Given the description of an element on the screen output the (x, y) to click on. 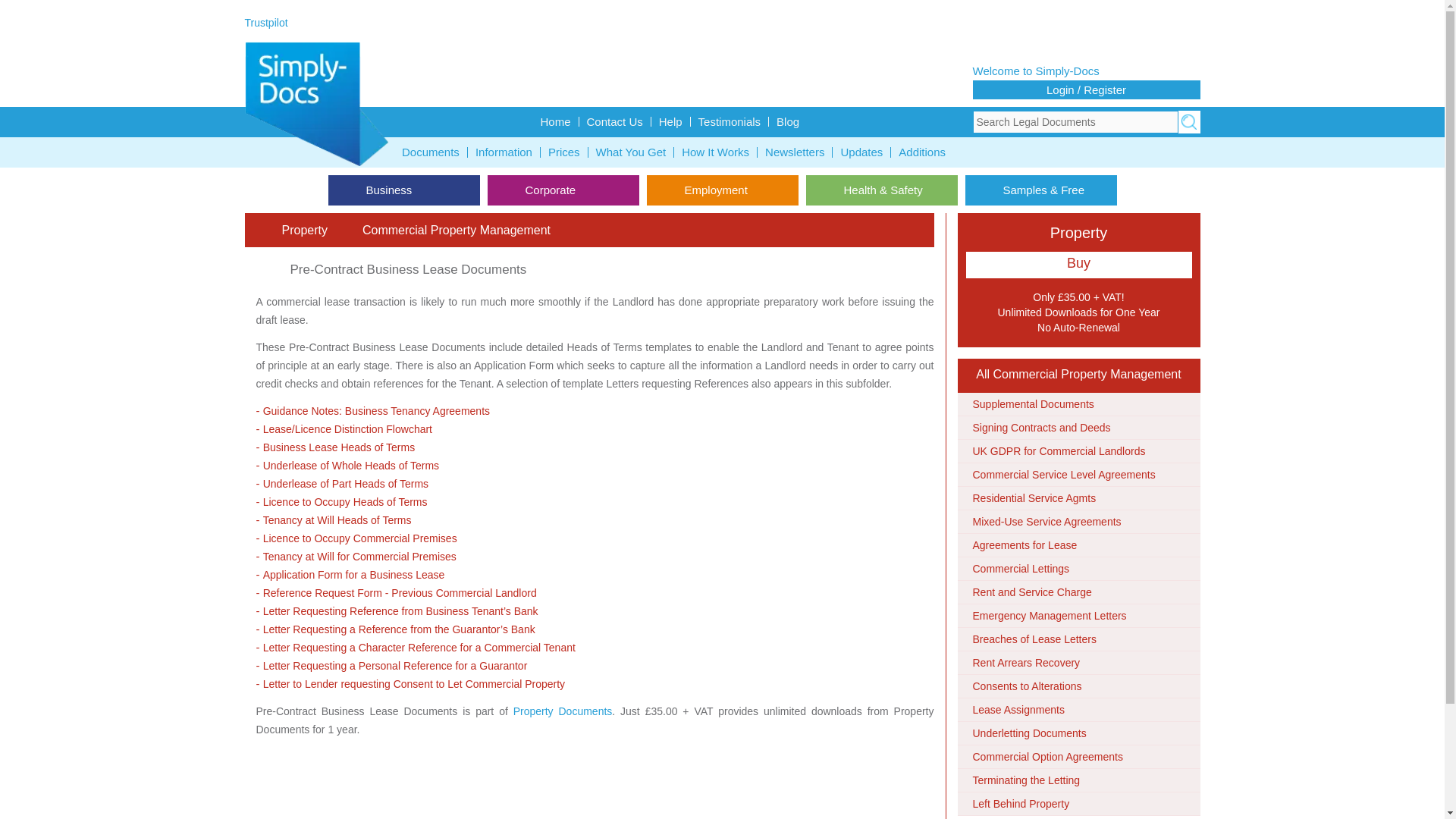
Trustpilot (265, 22)
Testimonials (730, 121)
Home (555, 121)
Help (670, 121)
Contact Us (614, 121)
Blog (787, 121)
Documents (430, 152)
